Given the description of an element on the screen output the (x, y) to click on. 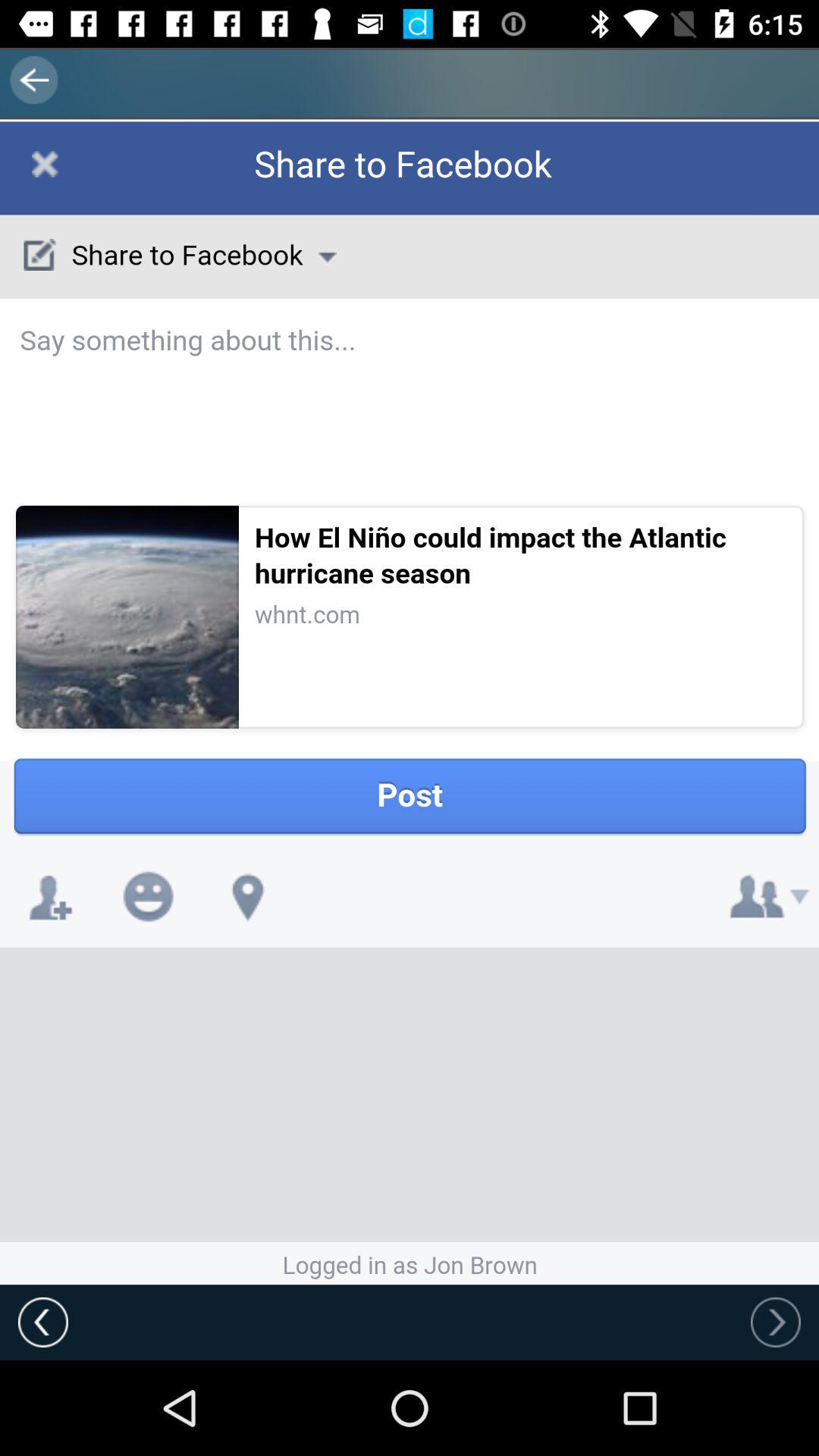
go back (43, 1322)
